Given the description of an element on the screen output the (x, y) to click on. 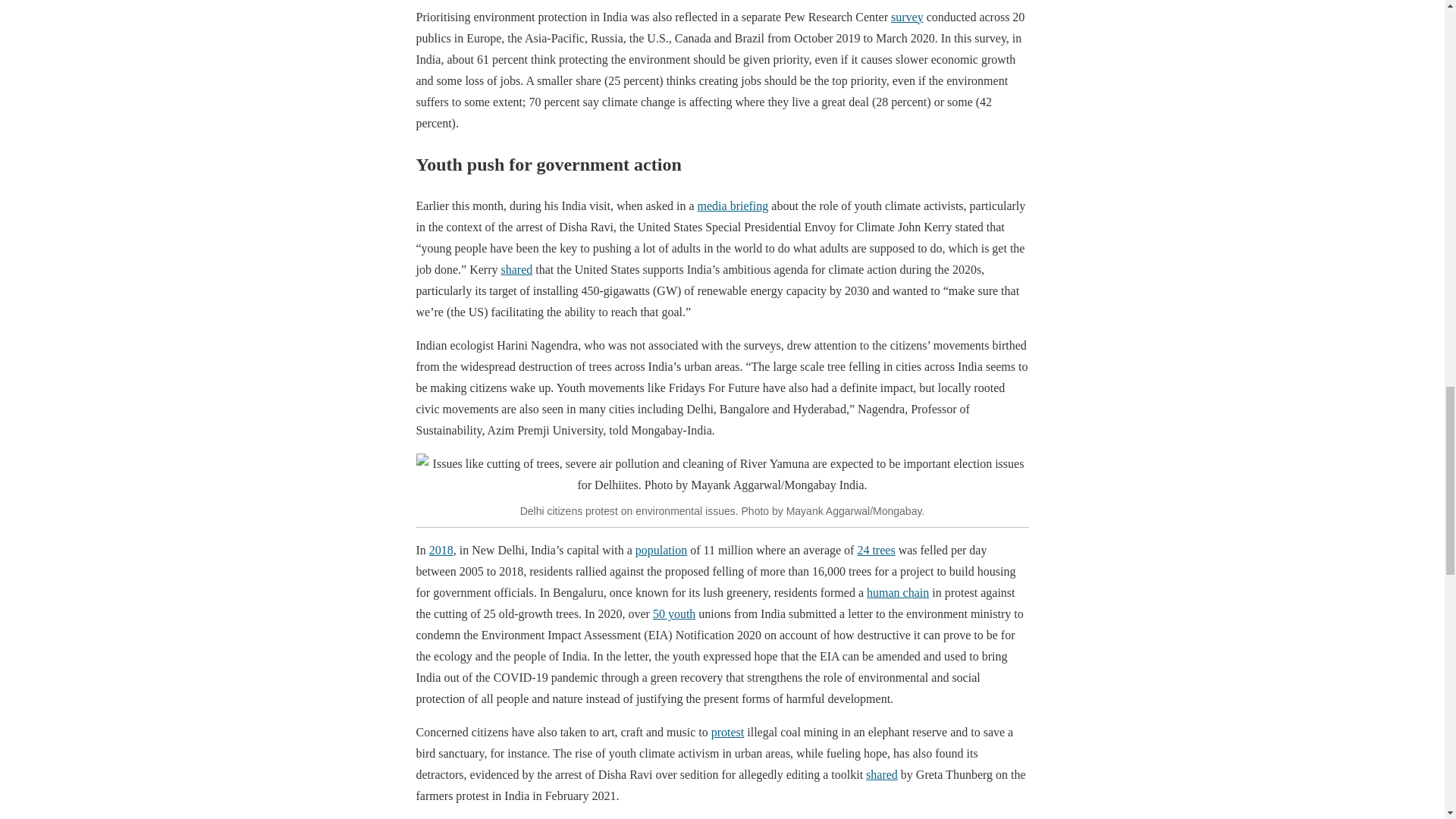
shared (516, 269)
shared (882, 774)
survey (907, 16)
human chain (897, 592)
population (660, 549)
24 trees (876, 549)
2018 (440, 549)
50 youth (673, 613)
media briefing (732, 205)
protest (727, 731)
